Given the description of an element on the screen output the (x, y) to click on. 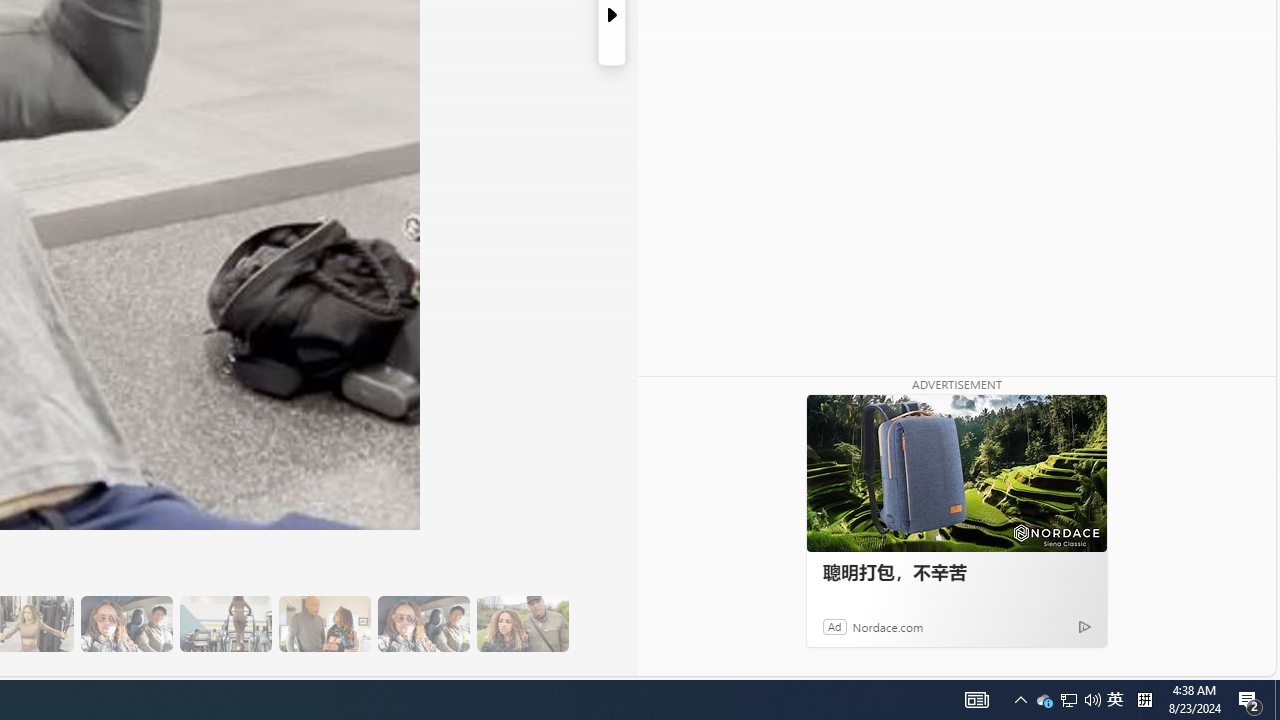
16 The Couple's Program Helps with Accountability (125, 624)
16 The Couple's Program Helps with Accountability (125, 624)
